Given the description of an element on the screen output the (x, y) to click on. 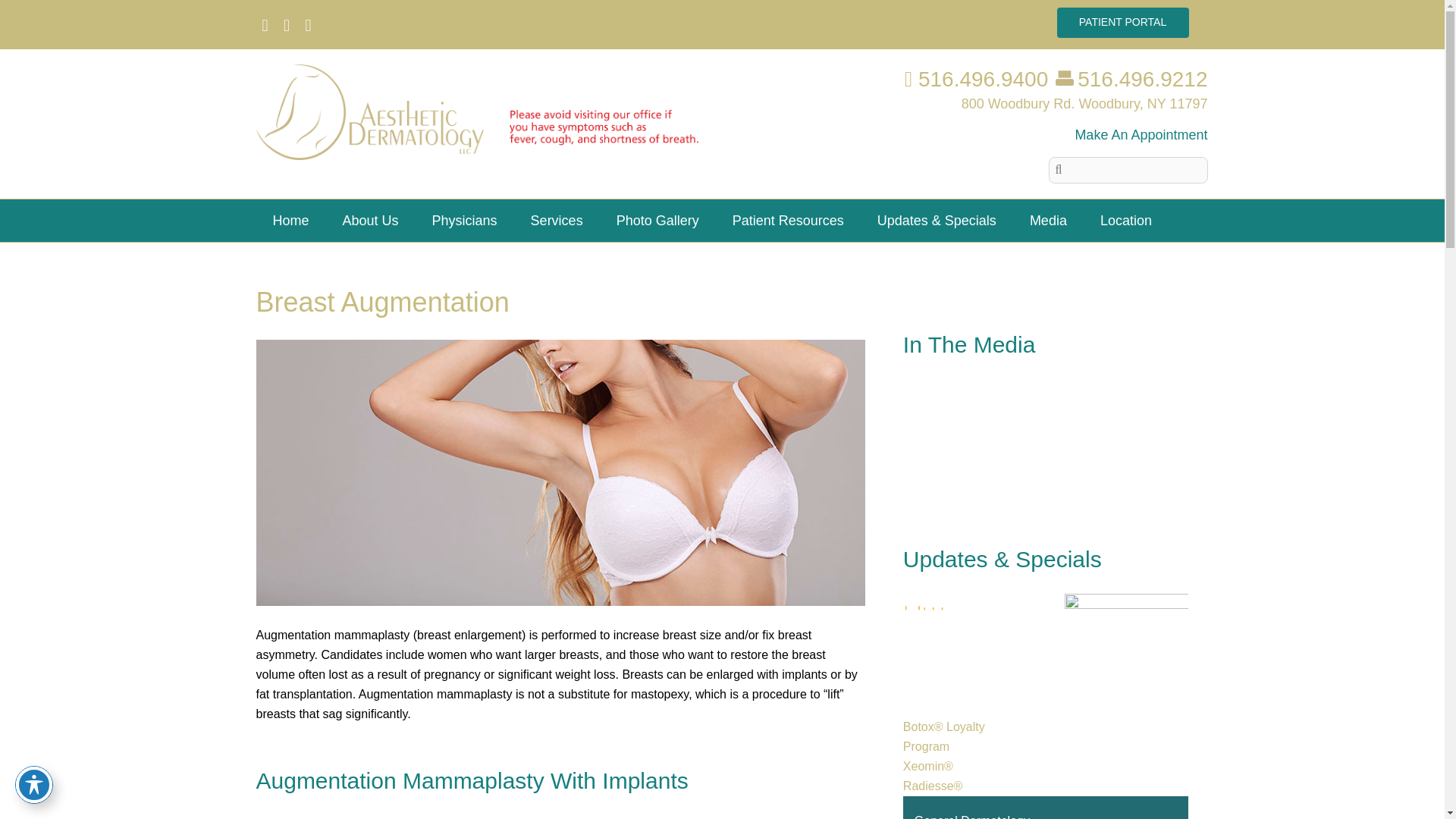
Services (556, 220)
Photo Gallery (657, 220)
516.496.9400 (976, 78)
Home (291, 220)
PATIENT PORTAL (1123, 22)
Physicians (463, 220)
About Us (370, 220)
800 Woodbury Rd. Woodbury, NY 11797 (1084, 103)
Patient Resources (788, 220)
Media (1048, 220)
